Given the description of an element on the screen output the (x, y) to click on. 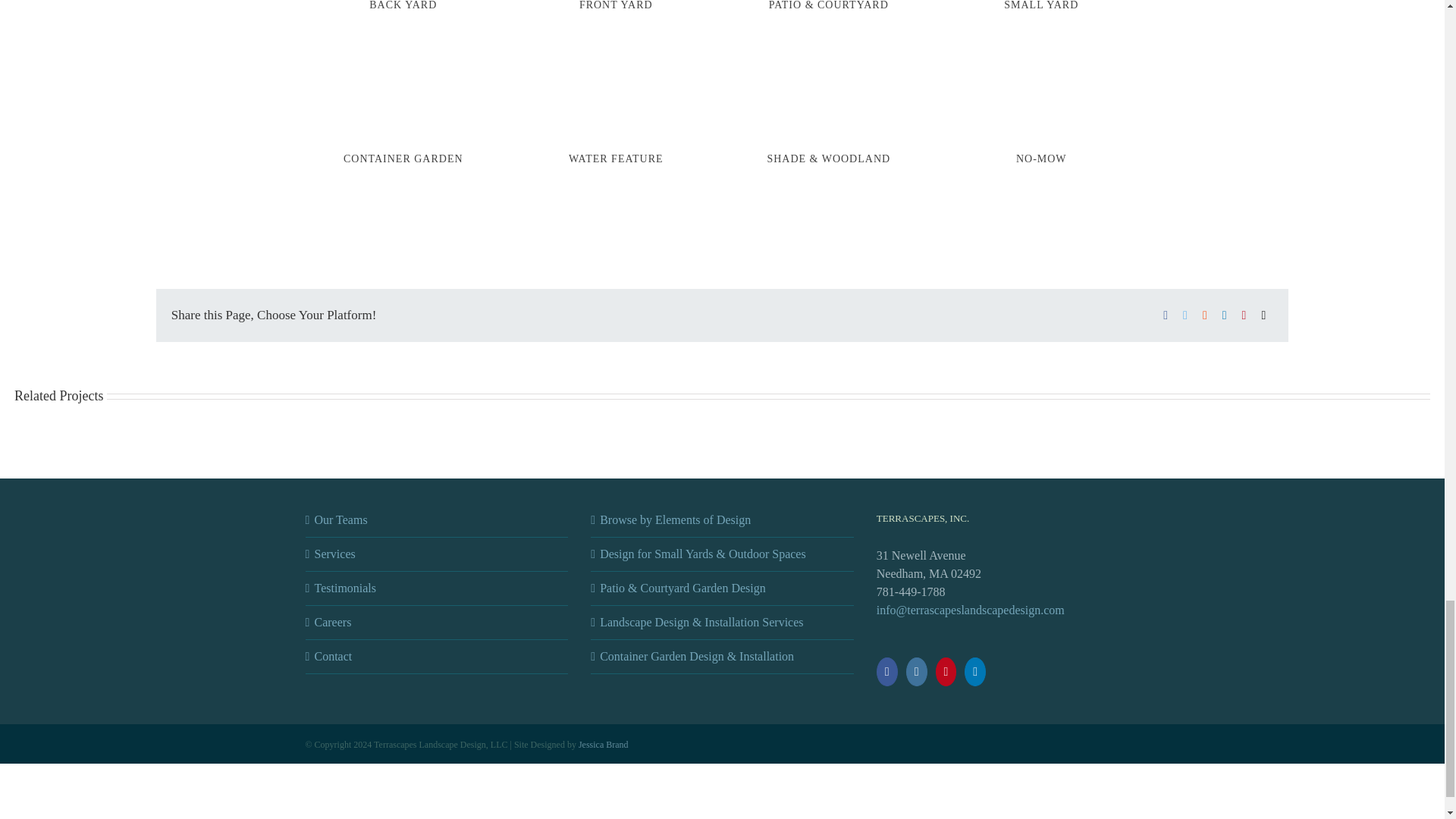
Facebook (1165, 315)
SMALL YARD (1040, 10)
FRONT YARD (616, 10)
CONTAINER GARDEN (402, 158)
Twitter (1184, 315)
Email (1262, 315)
LinkedIn (1224, 315)
NO-MOW (1041, 158)
BACK YARD (402, 10)
Pinterest (1243, 315)
